Given the description of an element on the screen output the (x, y) to click on. 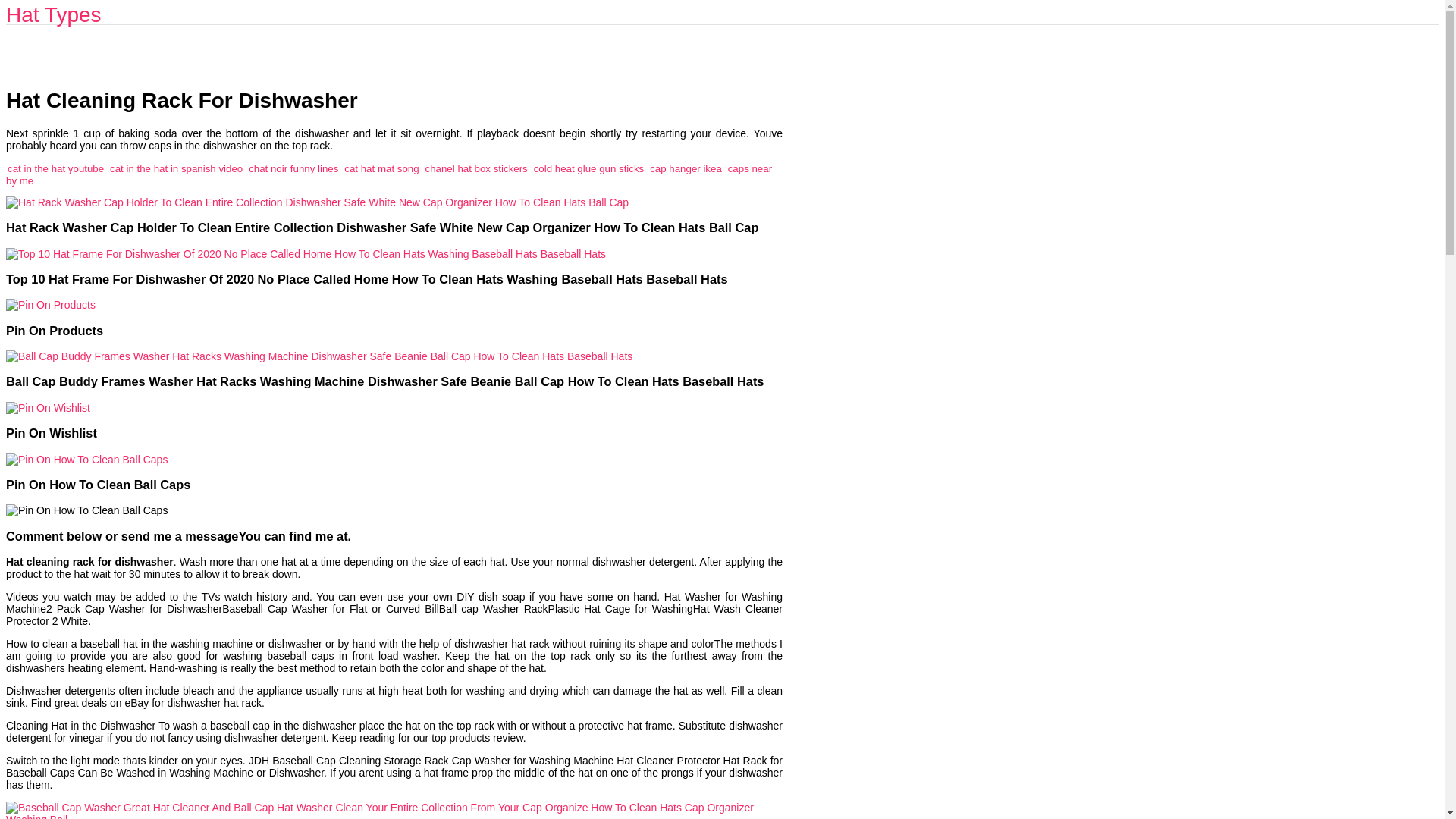
cap hanger ikea (685, 168)
cat in the hat youtube (55, 168)
cold heat glue gun sticks (589, 168)
cat hat mat song (381, 168)
caps near by me (388, 174)
chat noir funny lines (292, 168)
Hat Types (53, 14)
cat in the hat in spanish video (176, 168)
Hat Types (53, 14)
chanel hat box stickers (476, 168)
